Given the description of an element on the screen output the (x, y) to click on. 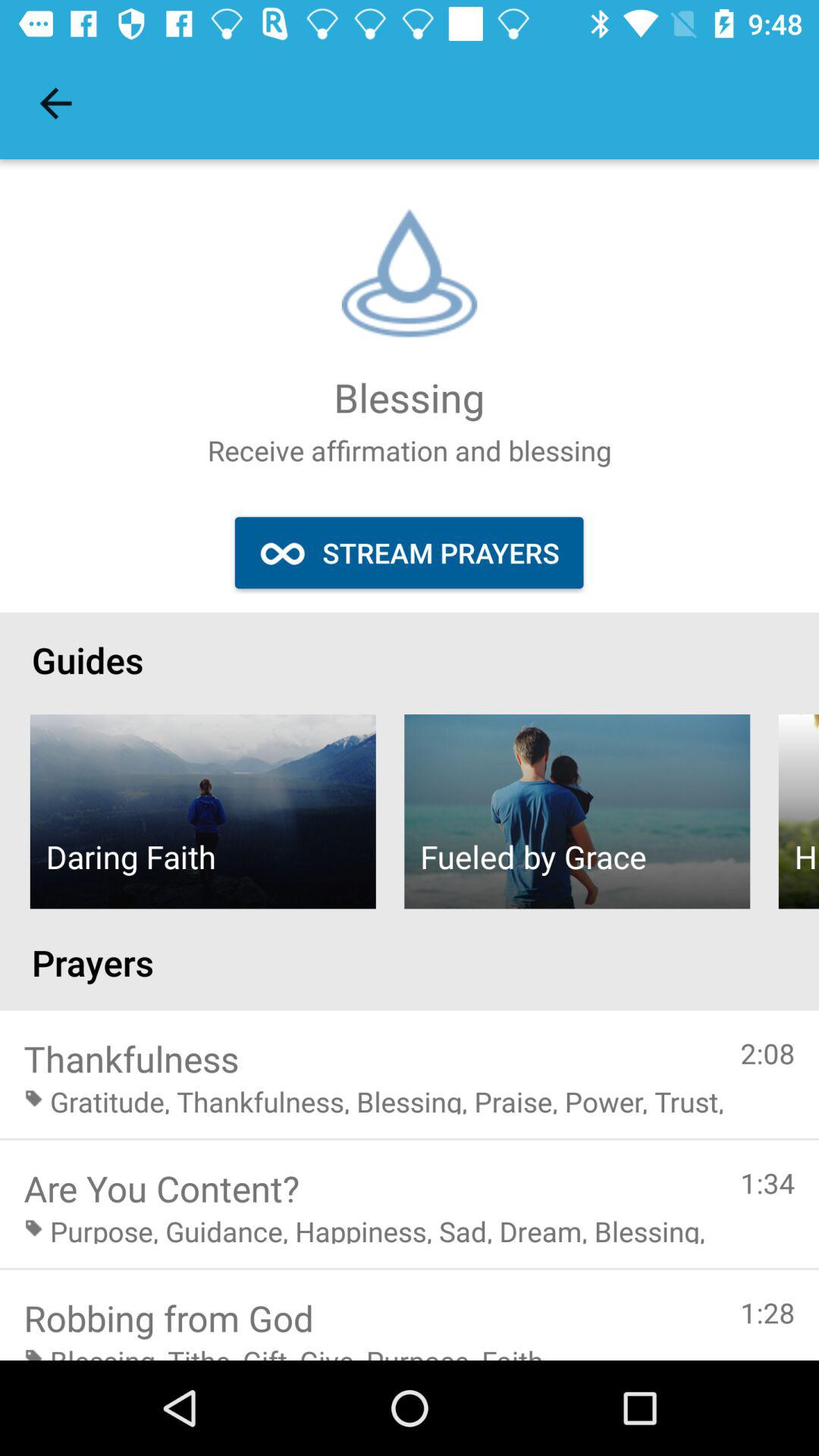
turn on icon above guides (408, 552)
